Given the description of an element on the screen output the (x, y) to click on. 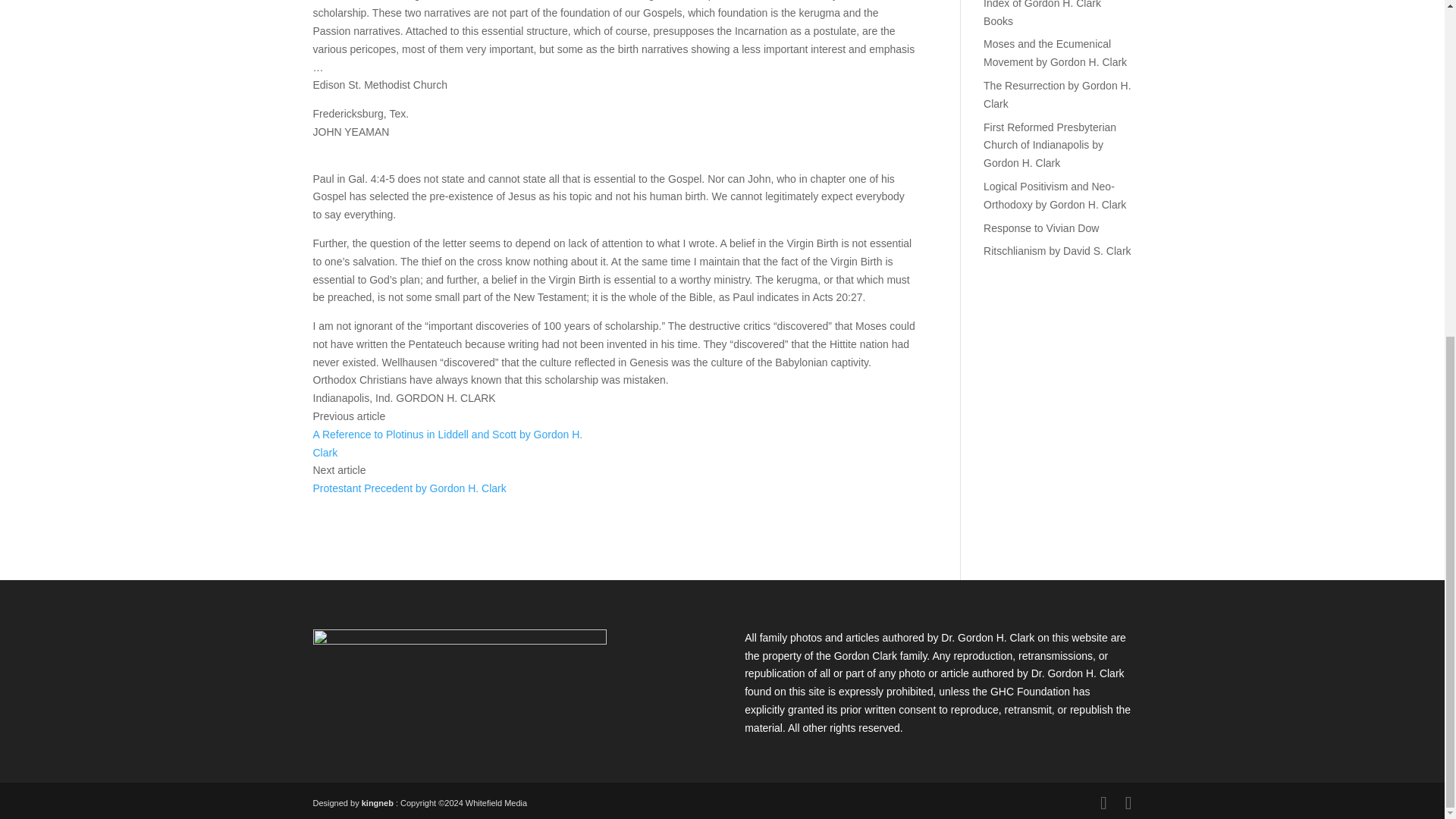
Page 1 (614, 85)
Logical Positivism and Neo-Orthodoxy by Gordon H. Clark (1054, 195)
Ritschlianism by David S. Clark (1057, 250)
Moses and the Ecumenical Movement by Gordon H. Clark (1055, 52)
kingneb (377, 802)
Protestant Precedent by Gordon H. Clark (409, 488)
Response to Vivian Dow (1041, 227)
The Resurrection by Gordon H. Clark (1057, 94)
Scriptural Reference Combined Index of Gordon H. Clark Books (1057, 13)
